Given the description of an element on the screen output the (x, y) to click on. 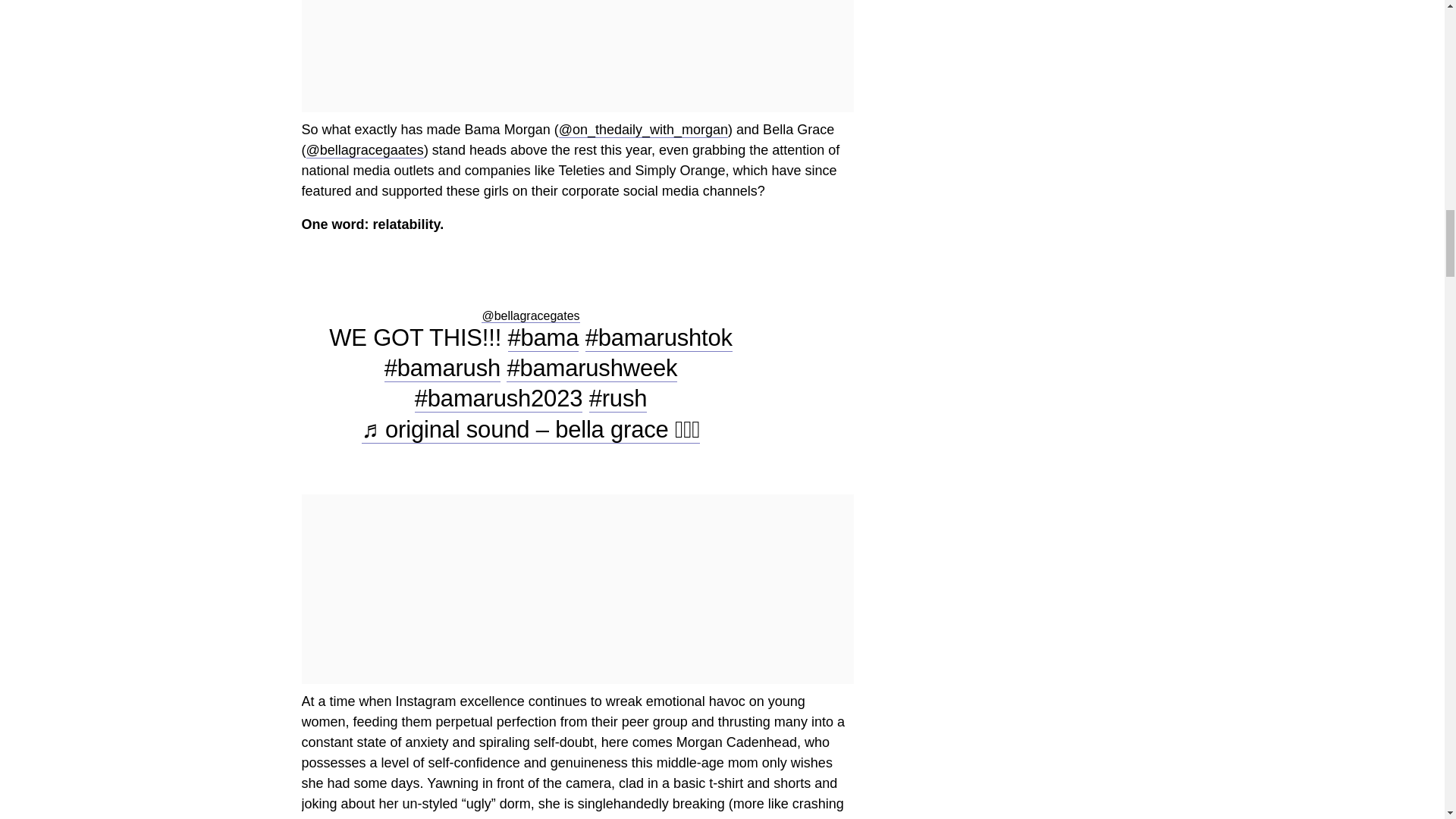
bamarushtok (658, 338)
bamarush2023 (498, 398)
bamarushweek (591, 368)
bamarush (442, 368)
bama (543, 338)
rush (618, 398)
